Given the description of an element on the screen output the (x, y) to click on. 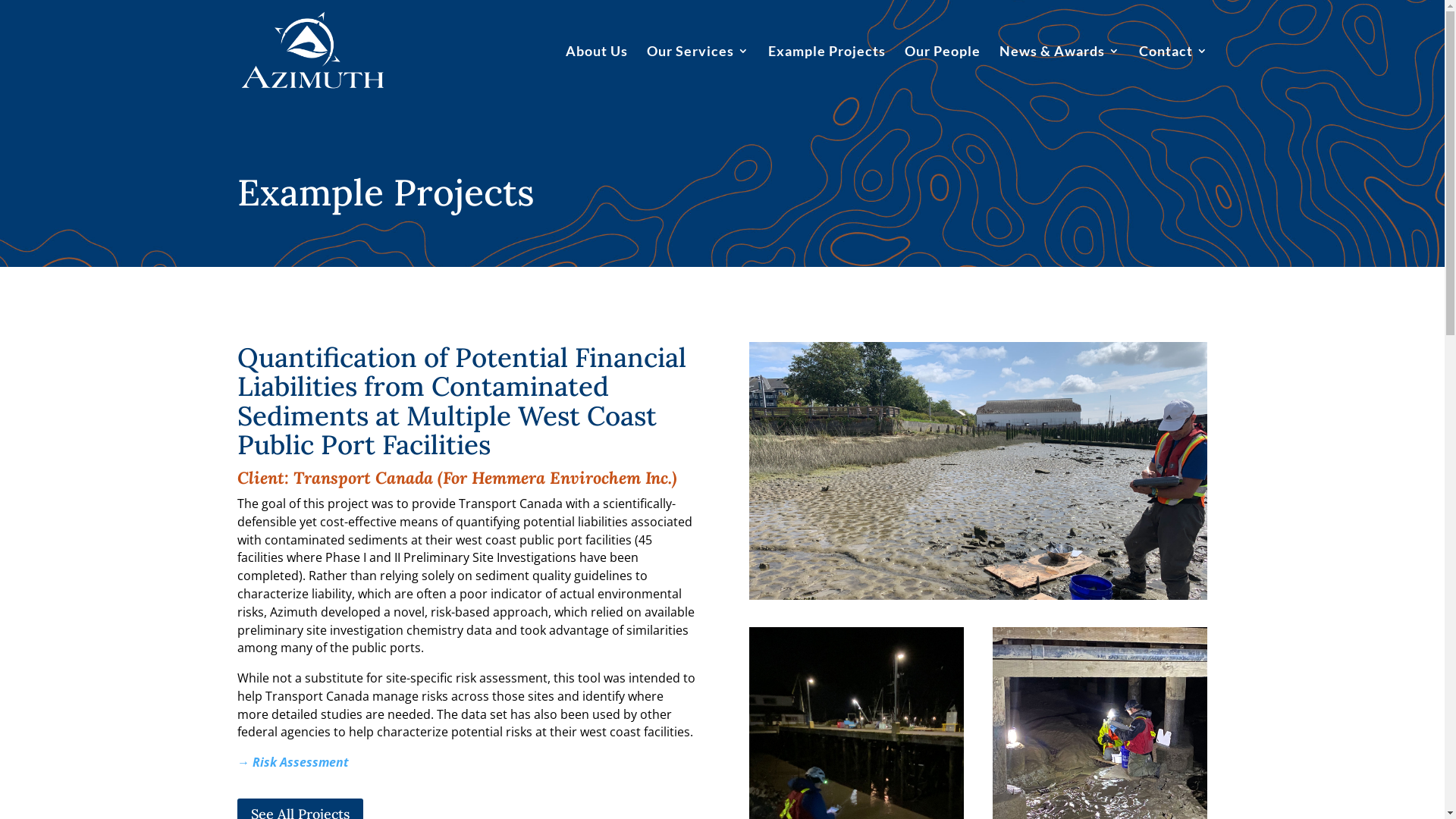
Example Projects Element type: text (384, 192)
Our People Element type: text (941, 73)
Risk-Assesment-at-Fisheries-03 Element type: hover (978, 470)
Our Services Element type: text (697, 73)
Contact Element type: text (1173, 73)
About Us Element type: text (596, 73)
Example Projects Element type: text (825, 73)
News & Awards Element type: text (1059, 73)
